Given the description of an element on the screen output the (x, y) to click on. 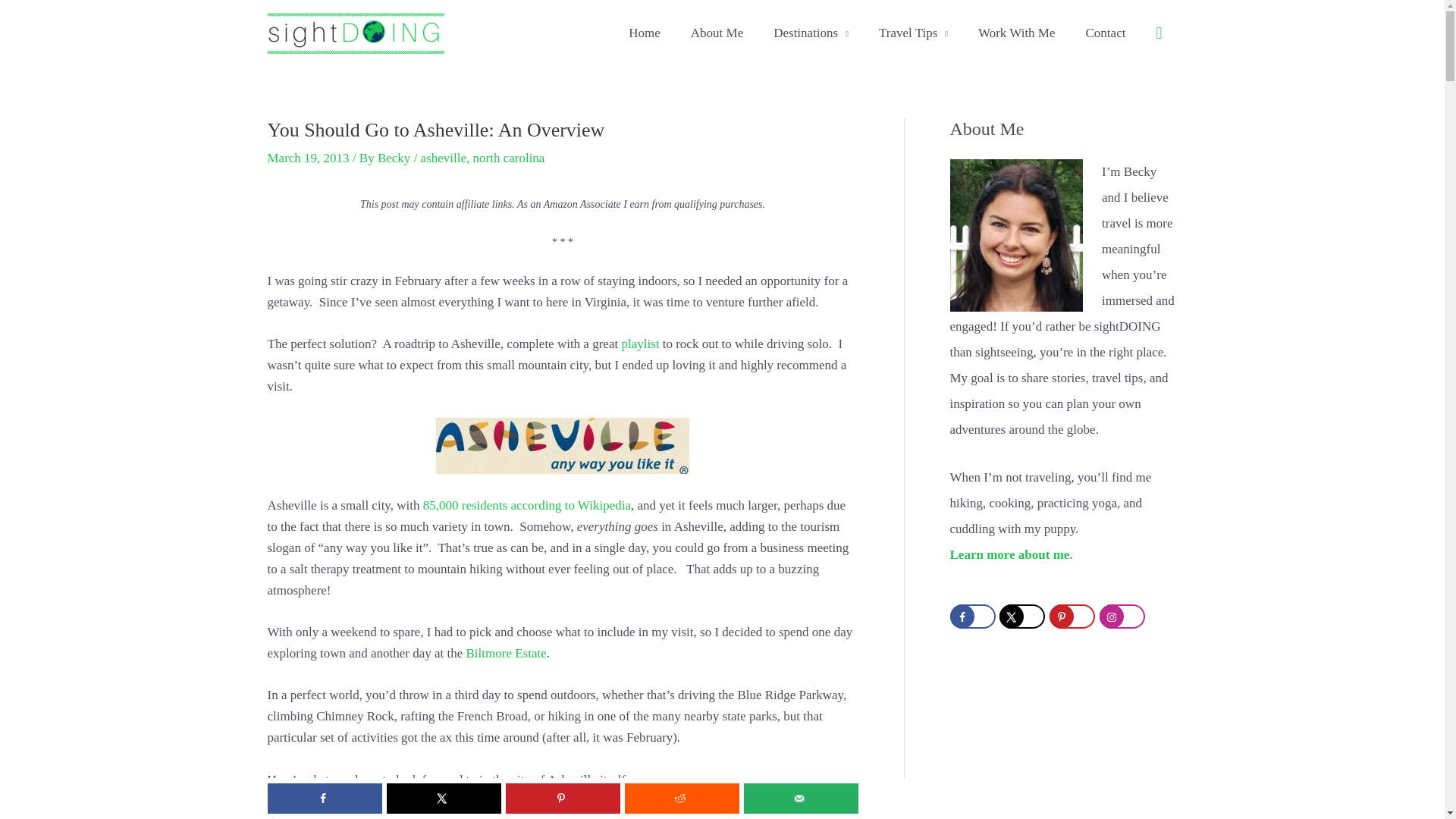
asheville (442, 157)
Follow on X (1021, 616)
View all posts by Becky (395, 157)
north carolina (508, 157)
Travel Tips (912, 33)
playlist (640, 343)
Follow on Facebook (971, 616)
85,000 residents according to Wikipedia (526, 504)
Work With Me (1016, 33)
Follow on Pinterest (1071, 616)
